Given the description of an element on the screen output the (x, y) to click on. 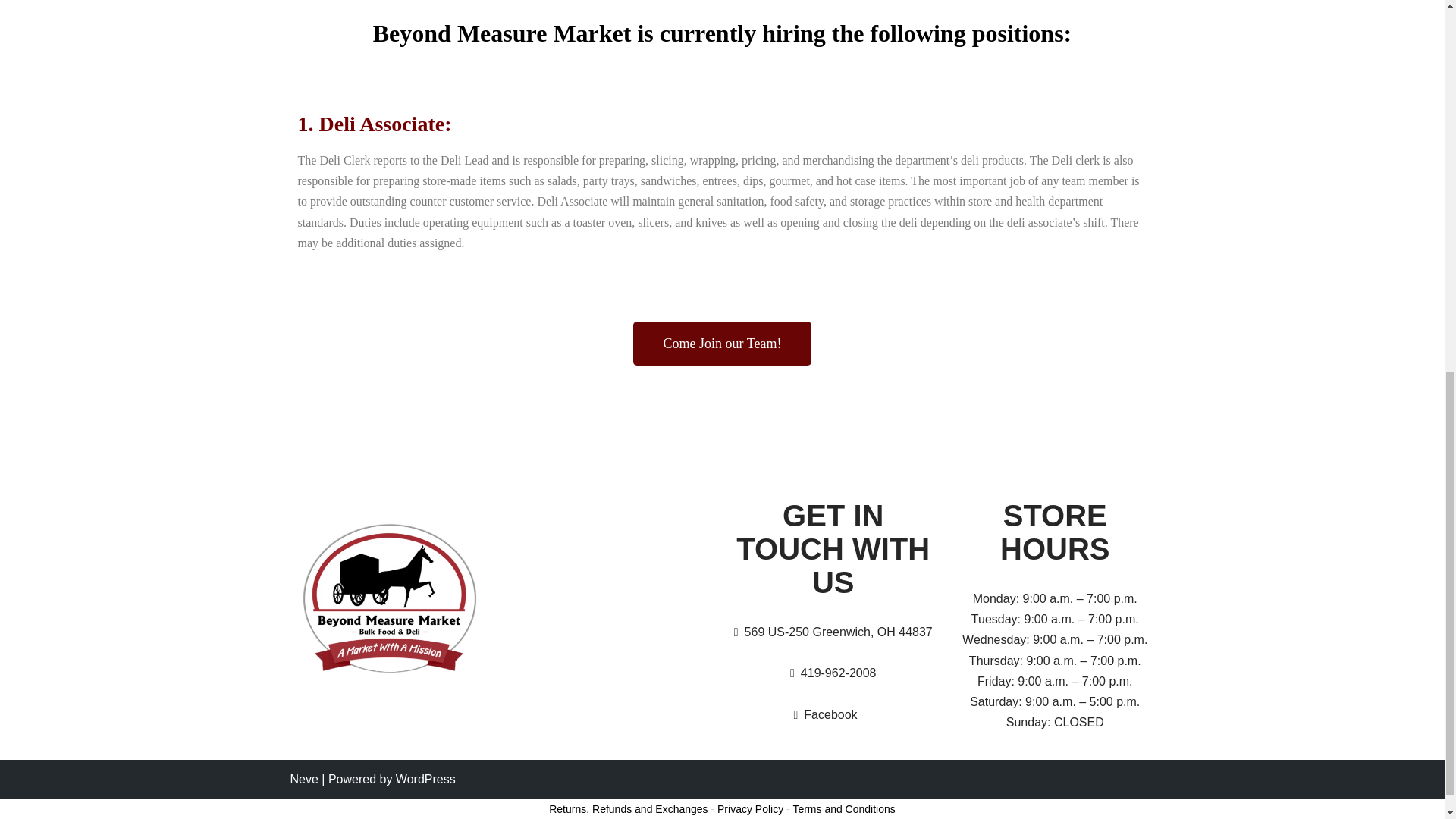
Privacy Policy (750, 808)
Neve (303, 779)
WordPress (425, 779)
Terms and Conditions (843, 808)
419-962-2008 (835, 672)
Returns, Refunds and Exchanges (627, 808)
Come Join our Team! (722, 343)
Facebook (827, 714)
